Given the description of an element on the screen output the (x, y) to click on. 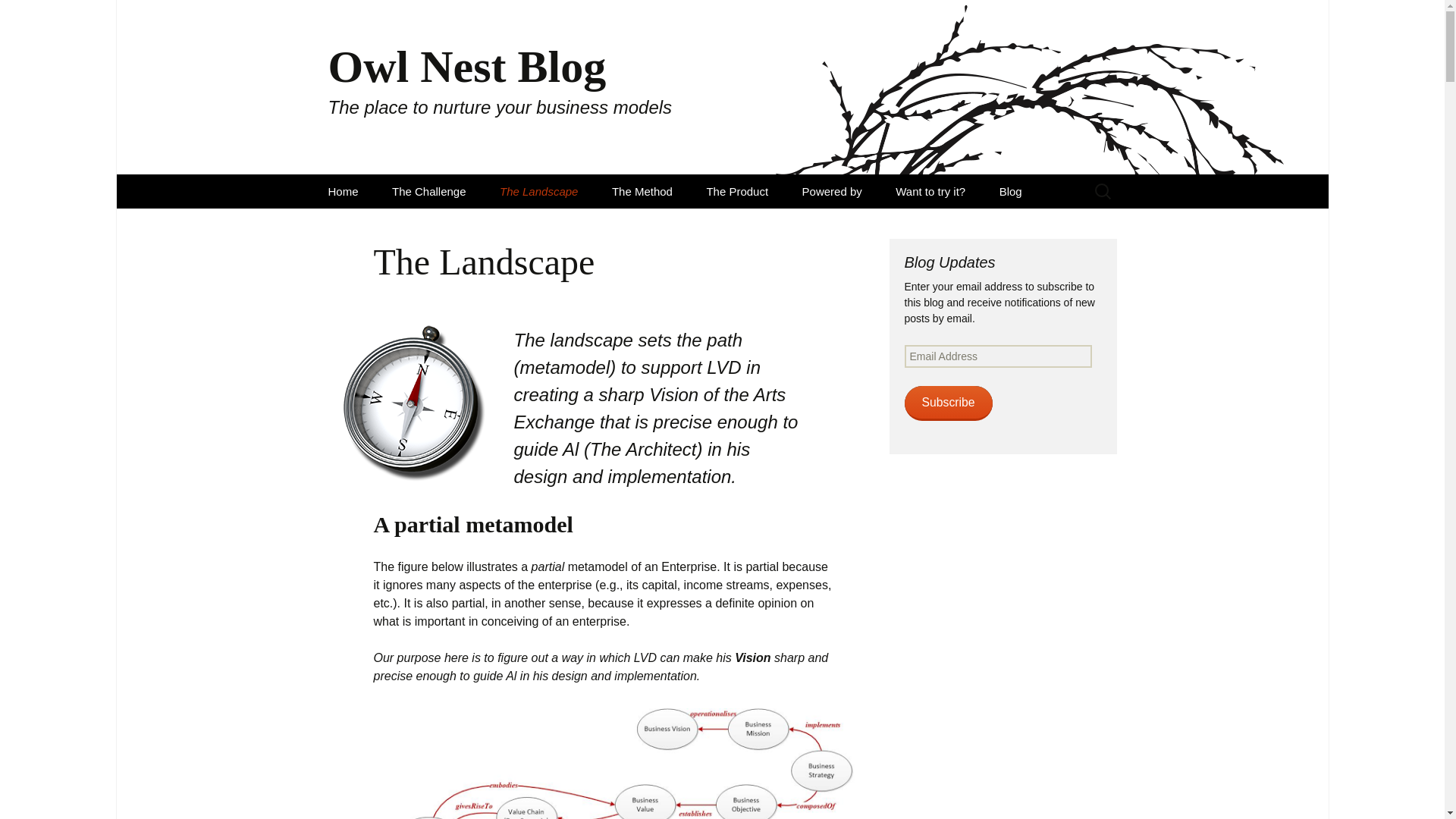
The Product (18, 15)
Want to try it? (736, 191)
The Landscape (929, 191)
The Method (538, 191)
Blog (641, 191)
About the Blog (1010, 191)
References (1059, 225)
A metamodel of the capability-driven enterprise (863, 225)
Home (624, 763)
Powered by (342, 191)
The Challenge (832, 191)
